Given the description of an element on the screen output the (x, y) to click on. 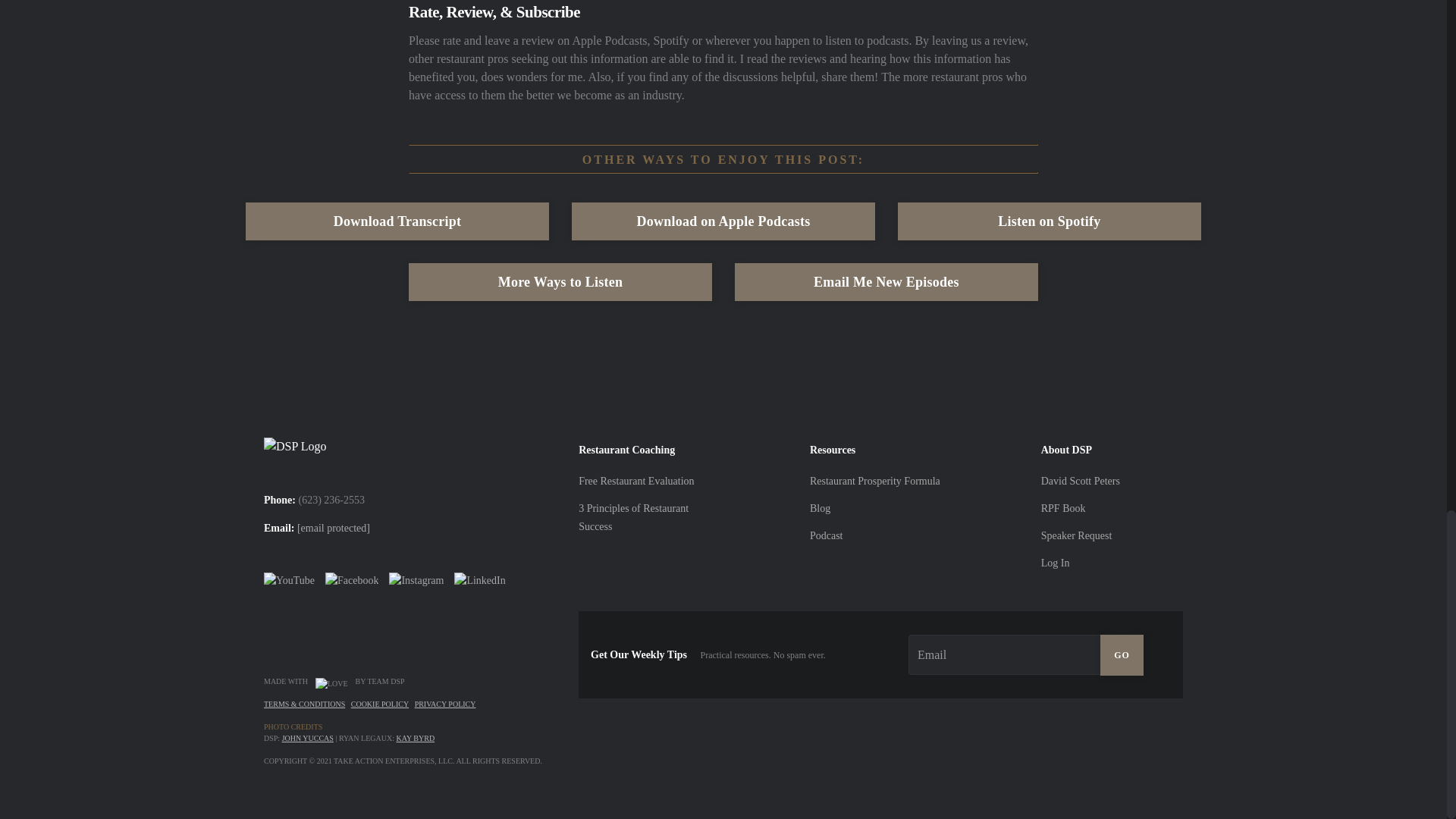
Restaurant Prosperity Formula (874, 480)
Blog (819, 508)
Download Transcript (397, 221)
Podcast (826, 535)
Email Me New Episodes (886, 281)
Listen on Spotify (1049, 221)
More Ways to Listen (560, 281)
Speaker Request (1076, 535)
Free Restaurant Evaluation (636, 480)
Download on Apple Podcasts (723, 221)
